Given the description of an element on the screen output the (x, y) to click on. 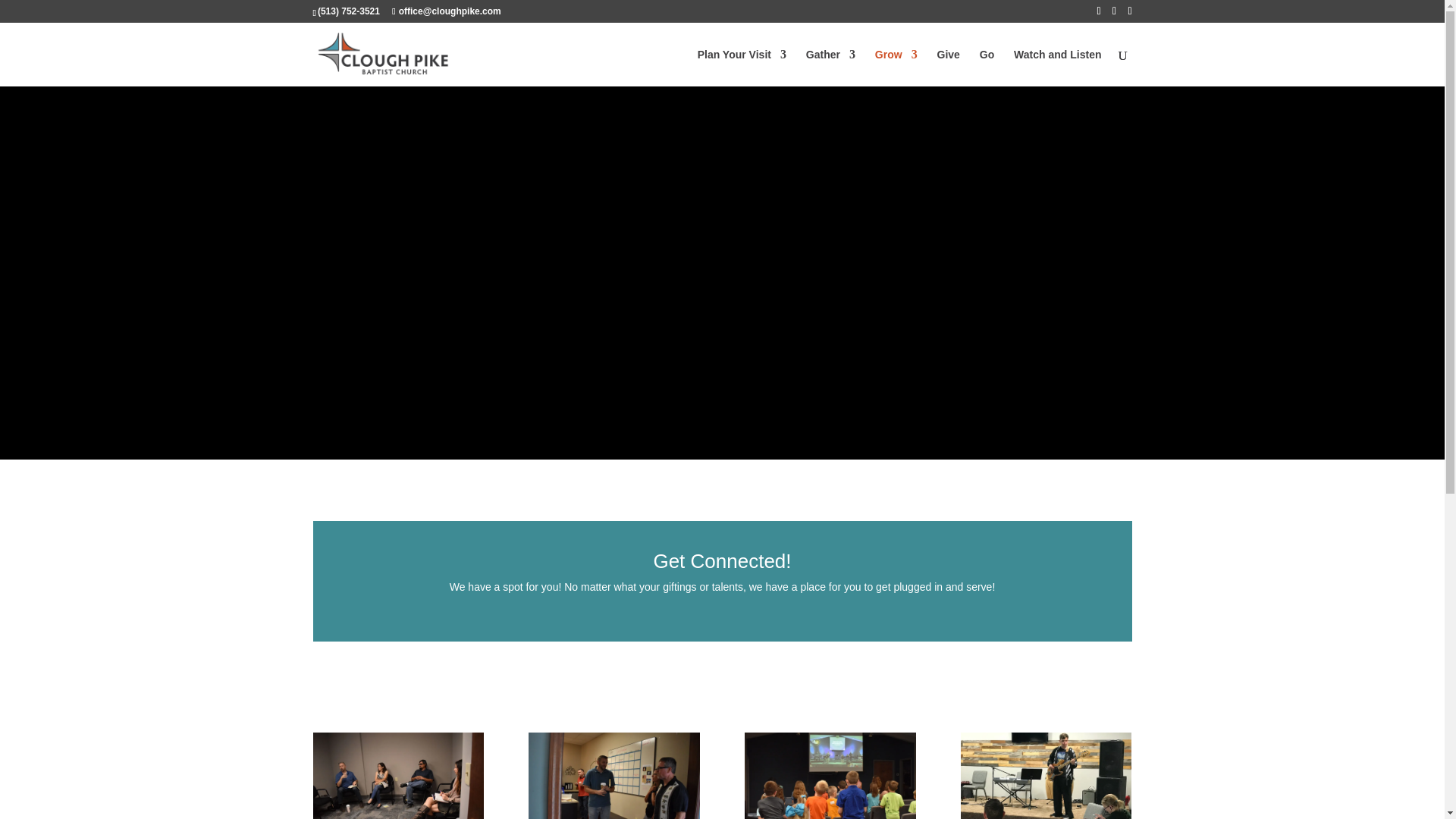
Watch and Listen (1056, 67)
Grow (896, 67)
Plan Your Visit (741, 67)
Gather (831, 67)
